Given the description of an element on the screen output the (x, y) to click on. 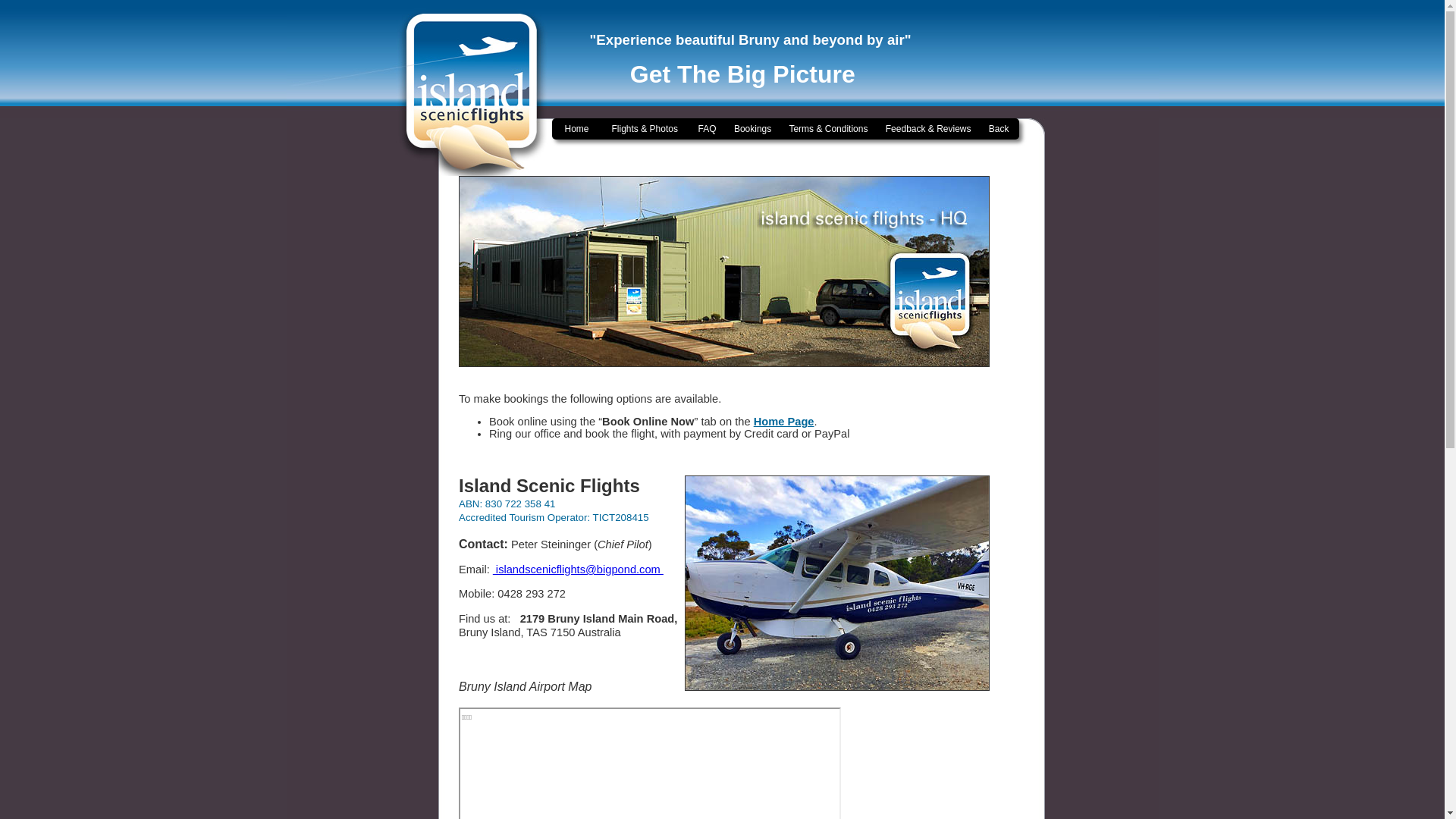
   Home    Element type: text (576, 128)
 islandscenicflights@bigpond.com  Element type: text (577, 569)
Home Page Element type: text (783, 421)
  Bookings   Element type: text (752, 128)
  Feedback & Reviews   Element type: text (927, 128)
  Back   Element type: text (998, 128)
   Flights & Photos    Element type: text (644, 128)
  FAQ   Element type: text (706, 128)
  Terms & Conditions   Element type: text (828, 128)
